Given the description of an element on the screen output the (x, y) to click on. 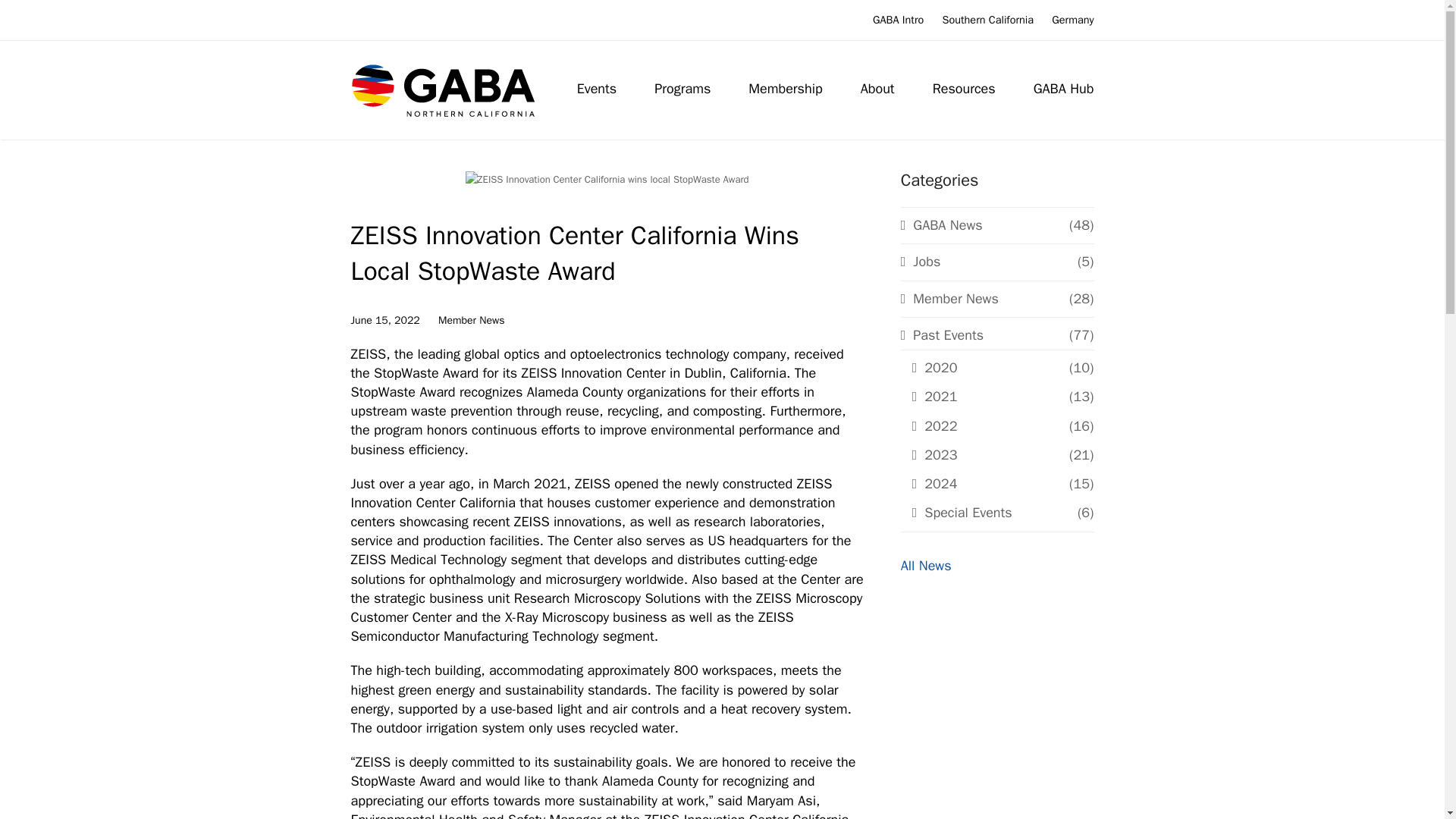
Events (597, 89)
GABA Hub (1063, 89)
Membership (784, 89)
Southern California (987, 19)
Germany (1072, 19)
GABA Intro (897, 19)
Programs (682, 89)
Member News (471, 319)
About (876, 89)
Resources (964, 89)
